Given the description of an element on the screen output the (x, y) to click on. 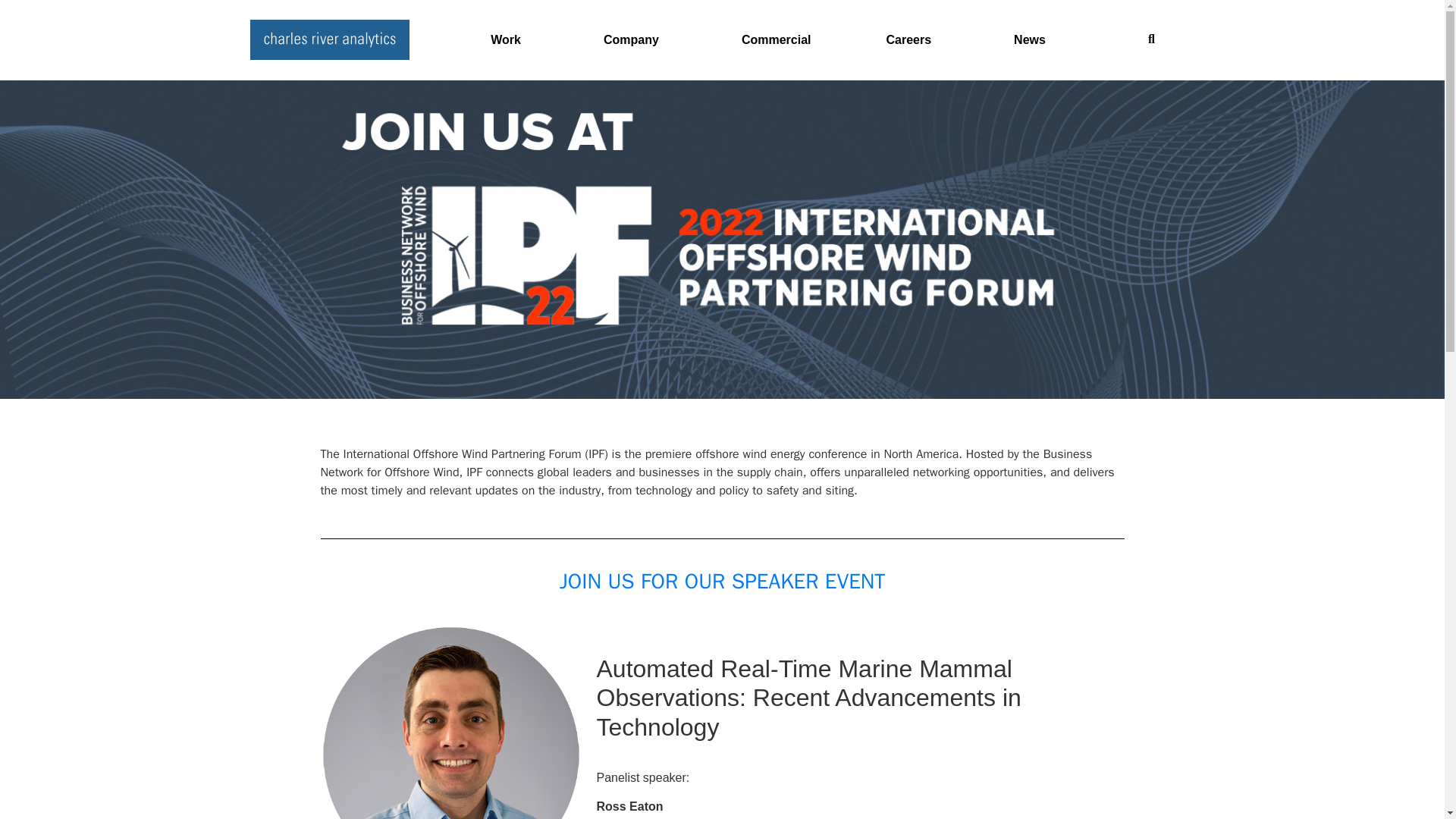
CRA-LOGO (329, 39)
Company (636, 39)
Work (510, 39)
News (1035, 39)
Commercial (778, 39)
Careers (914, 39)
